Given the description of an element on the screen output the (x, y) to click on. 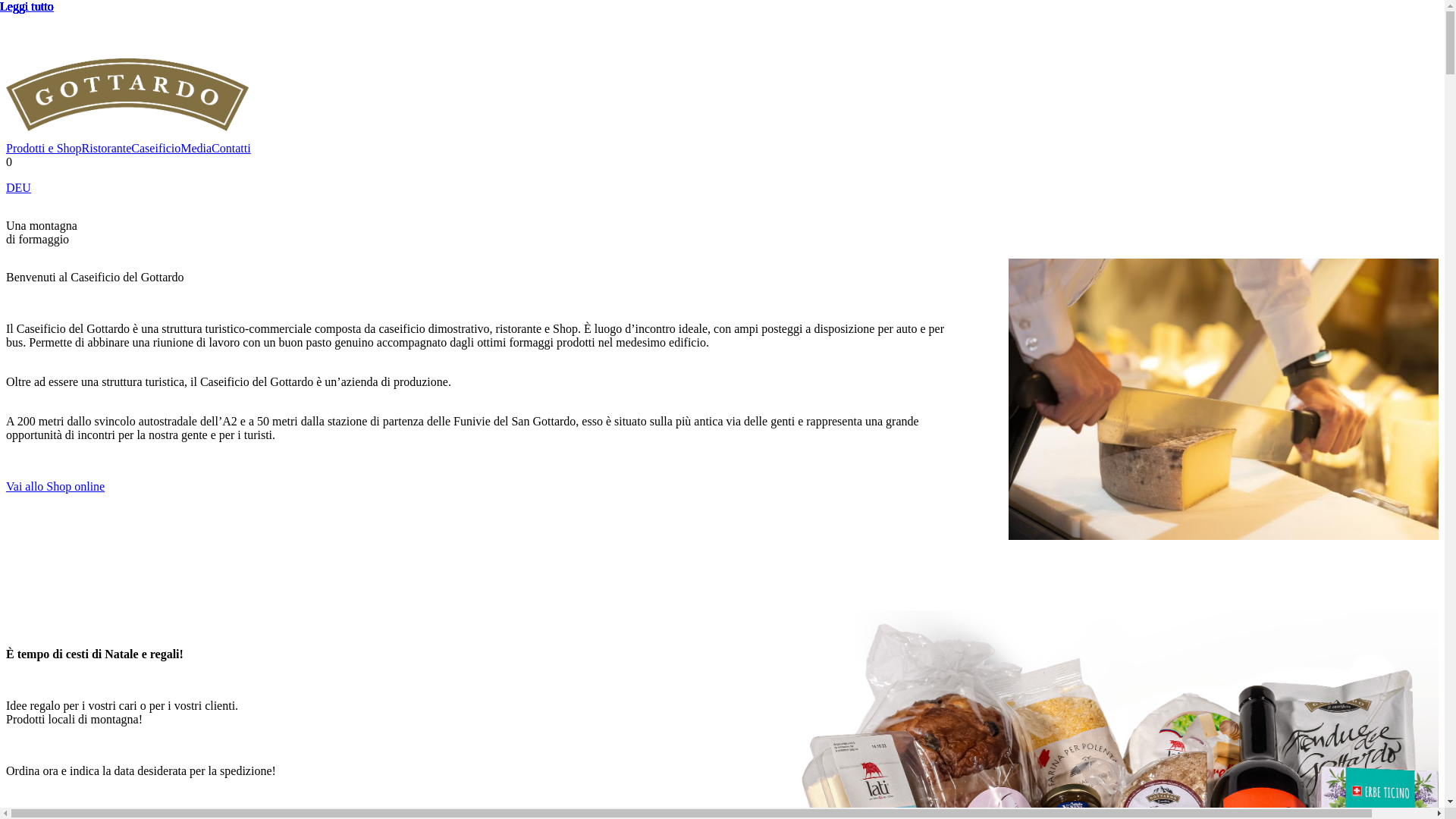
0 Element type: text (722, 162)
Prodotti e Shop Element type: text (43, 148)
DEU Element type: text (18, 187)
Caseificio Element type: text (155, 148)
Leggi tutto Element type: text (722, 403)
Ristorante Element type: text (106, 148)
Media Element type: text (195, 148)
Contatti Element type: text (231, 148)
Vai allo Shop online Element type: text (55, 486)
